Given the description of an element on the screen output the (x, y) to click on. 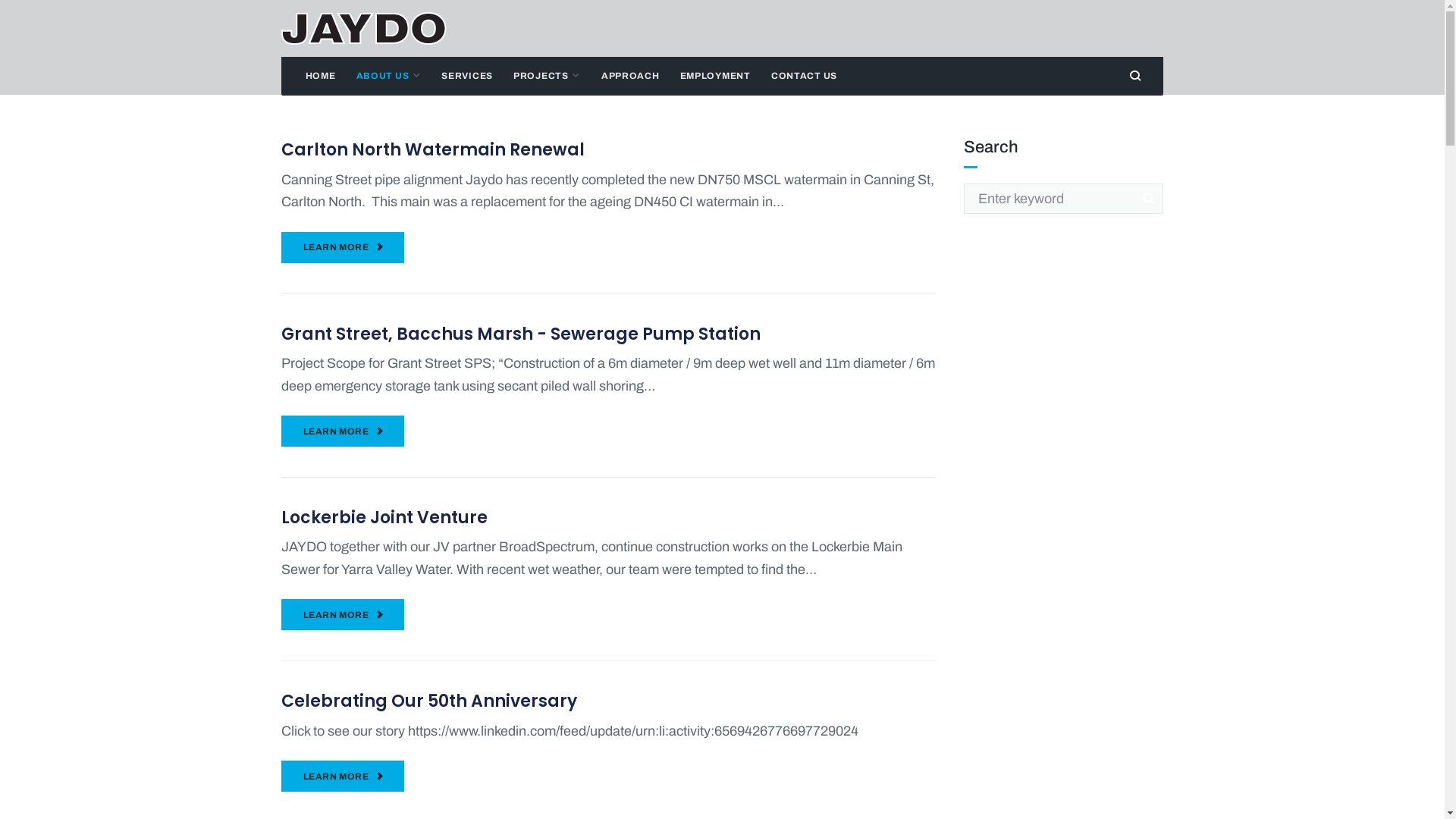
Celebrating Our 50th Anniversary Element type: text (429, 700)
LEARN MORE Element type: text (342, 247)
APPROACH Element type: text (629, 75)
ABOUT US Element type: text (388, 75)
Lockerbie Joint Venture Element type: text (384, 517)
LEARN MORE Element type: text (342, 430)
LEARN MORE Element type: text (342, 775)
LEARN MORE Element type: text (342, 614)
HOME Element type: text (319, 75)
PROJECTS Element type: text (546, 75)
Grant Street, Bacchus Marsh - Sewerage Pump Station Element type: text (520, 333)
Carlton North Watermain Renewal Element type: text (432, 149)
SEARCH Element type: text (1147, 198)
CONTACT US Element type: text (803, 75)
SERVICES Element type: text (466, 75)
Search for: Element type: hover (1063, 198)
EMPLOYMENT Element type: text (714, 75)
